Given the description of an element on the screen output the (x, y) to click on. 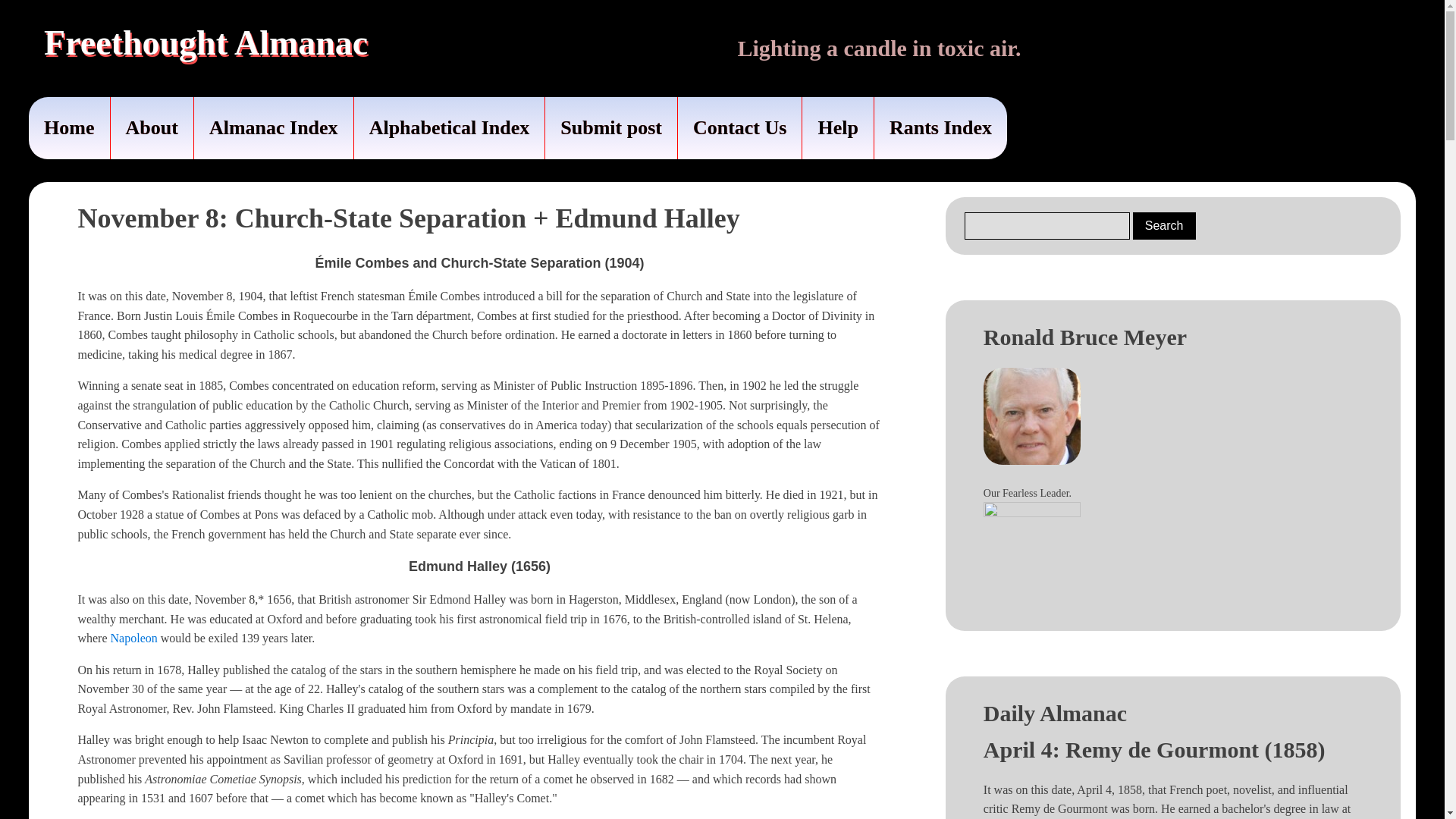
Almanac Index (273, 127)
Rants Index (941, 127)
About (151, 127)
Alphabetical Index (448, 127)
Submit post (610, 127)
Contact Us (740, 127)
Napoleon (133, 637)
Help (837, 127)
Home (69, 127)
Search (1163, 225)
